Given the description of an element on the screen output the (x, y) to click on. 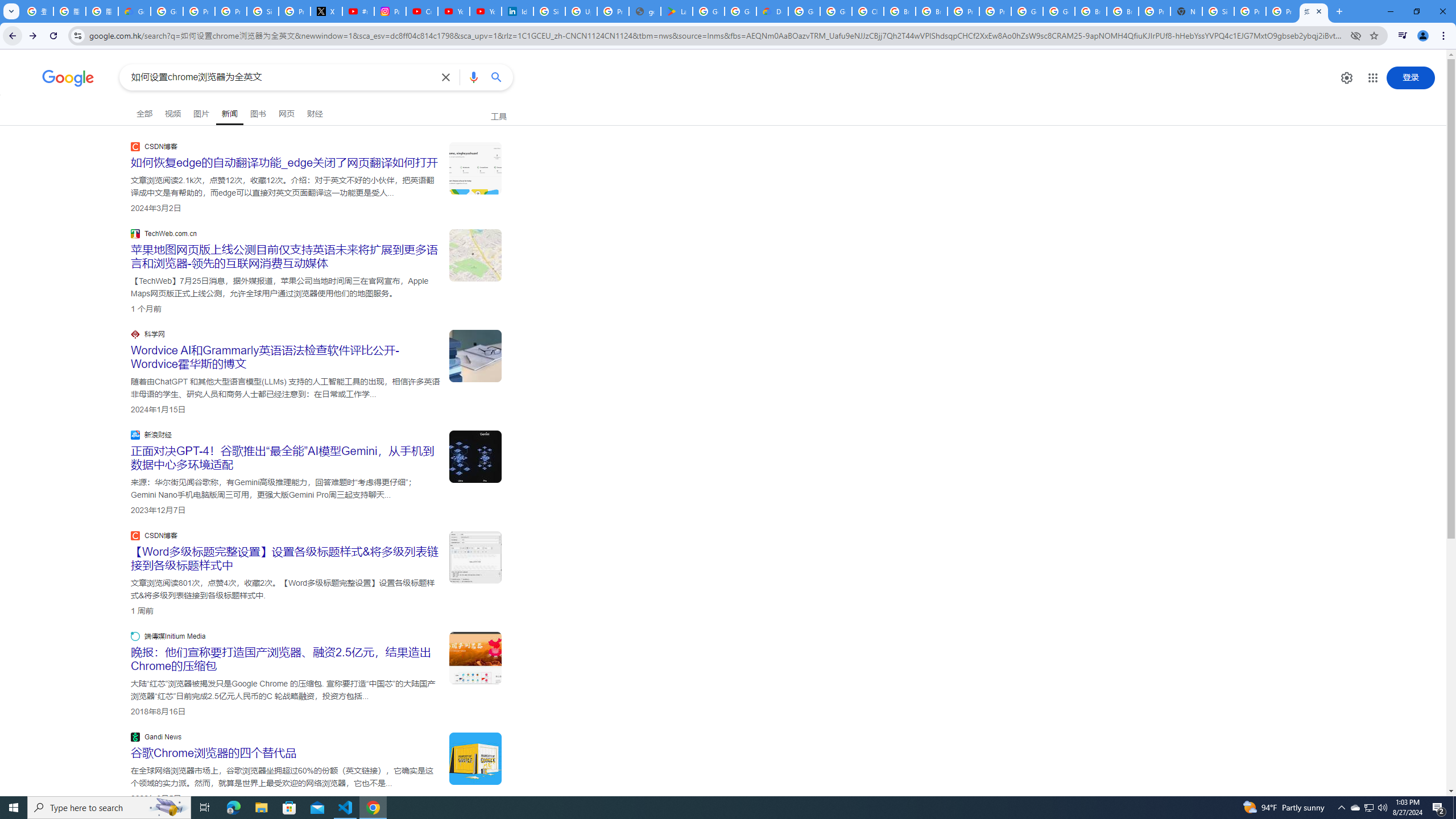
#nbabasketballhighlights - YouTube (358, 11)
New Tab (1185, 11)
Google Cloud Privacy Notice (134, 11)
Sign in - Google Accounts (1217, 11)
